Given the description of an element on the screen output the (x, y) to click on. 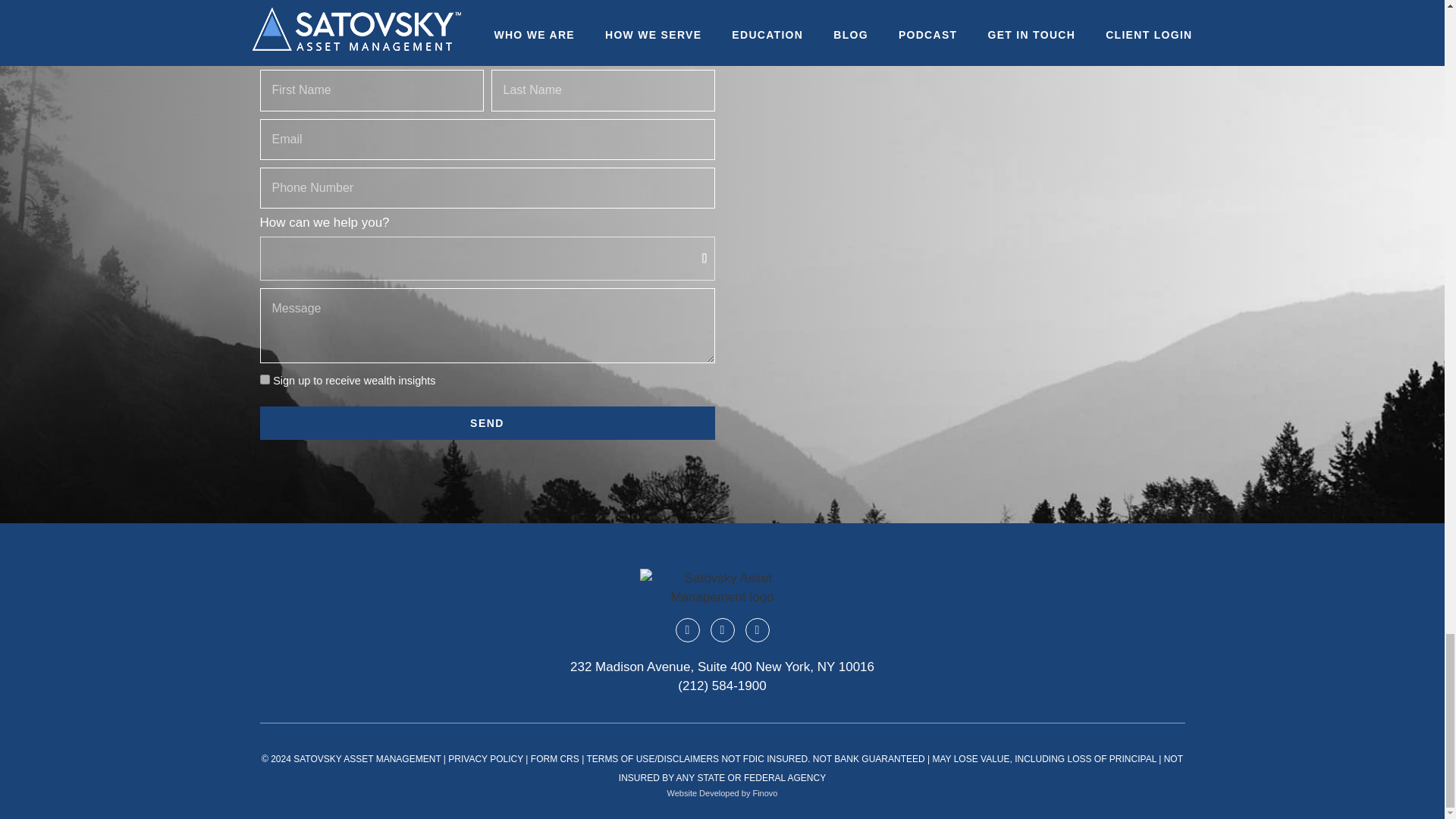
on (264, 379)
